Given the description of an element on the screen output the (x, y) to click on. 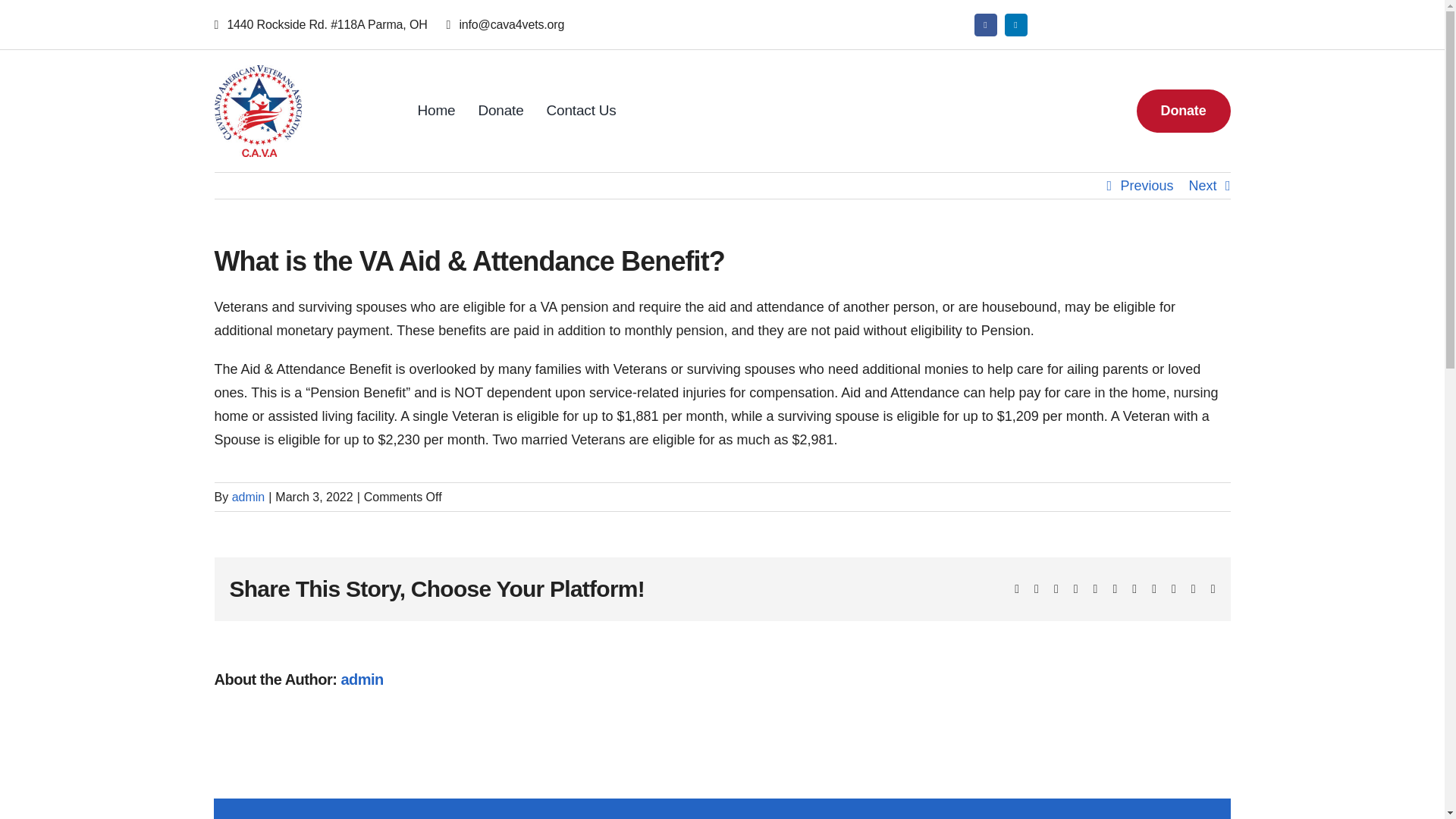
Contact Us (581, 111)
Posts by admin (361, 678)
Donate (1183, 111)
admin (247, 496)
Next (1201, 185)
Posts by admin (247, 496)
admin (361, 678)
Previous (1146, 185)
